Given the description of an element on the screen output the (x, y) to click on. 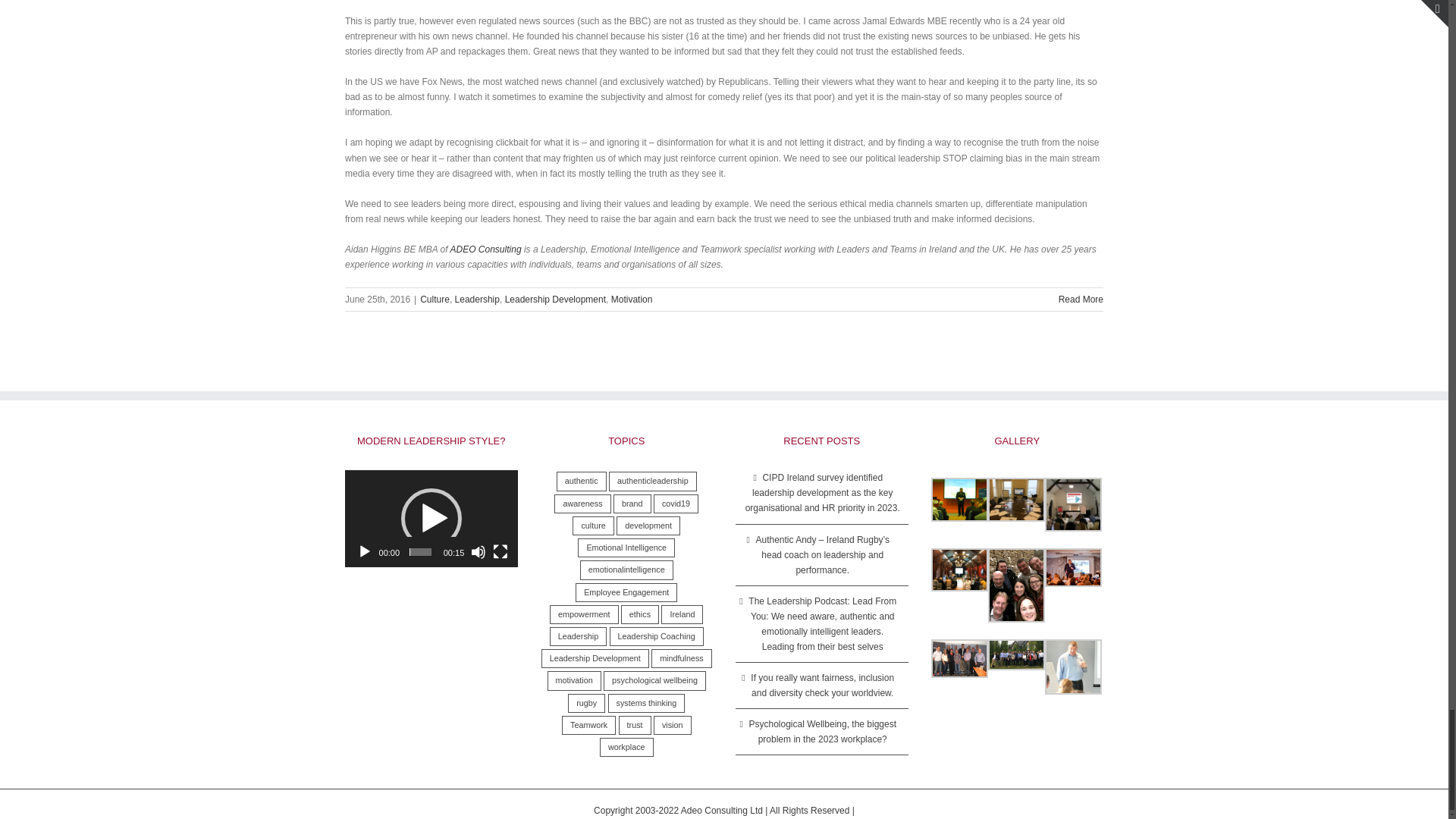
Play (364, 551)
Mute (478, 551)
Fullscreen (500, 551)
